Given the description of an element on the screen output the (x, y) to click on. 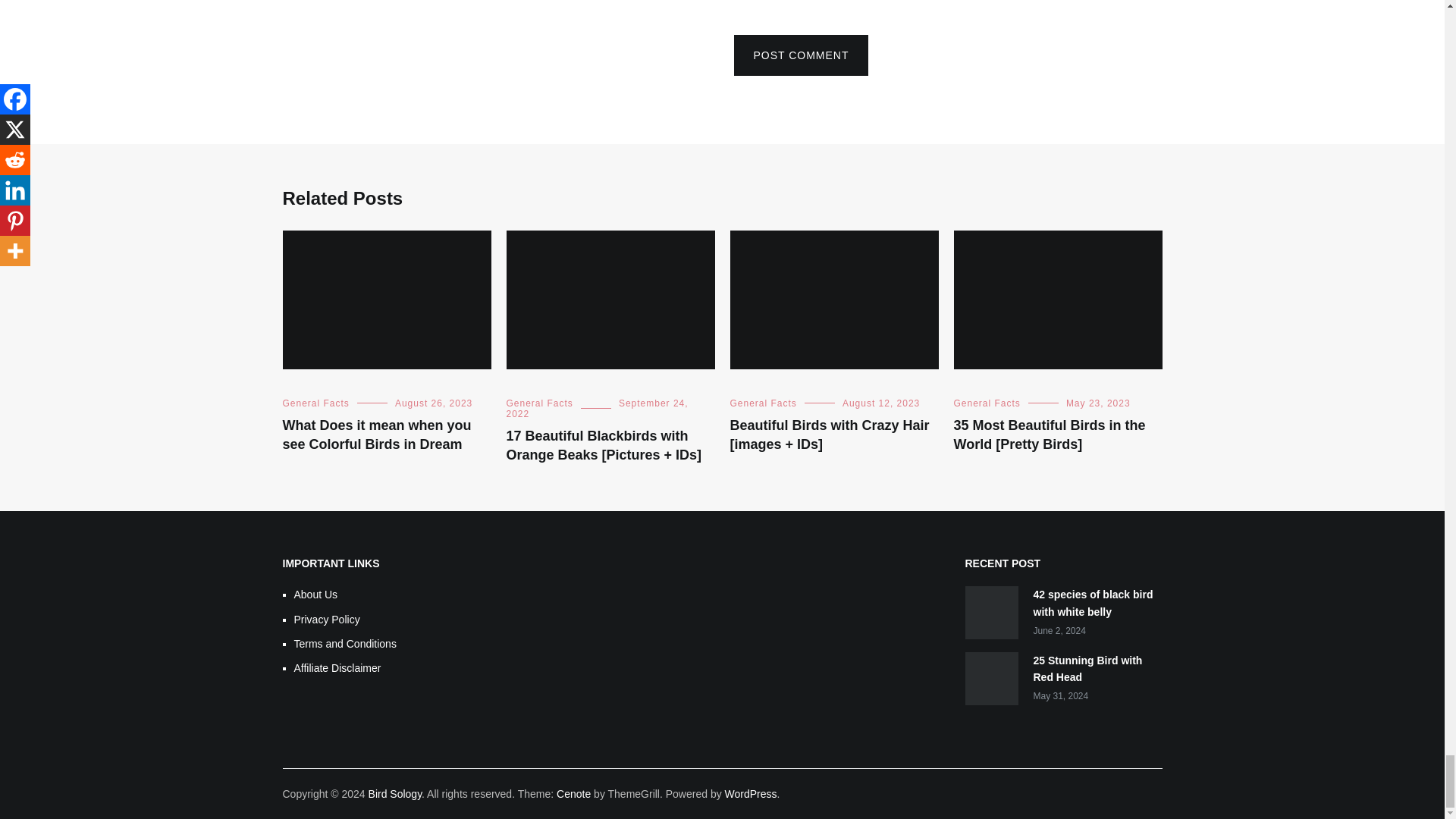
Bird Sology (395, 793)
